Given the description of an element on the screen output the (x, y) to click on. 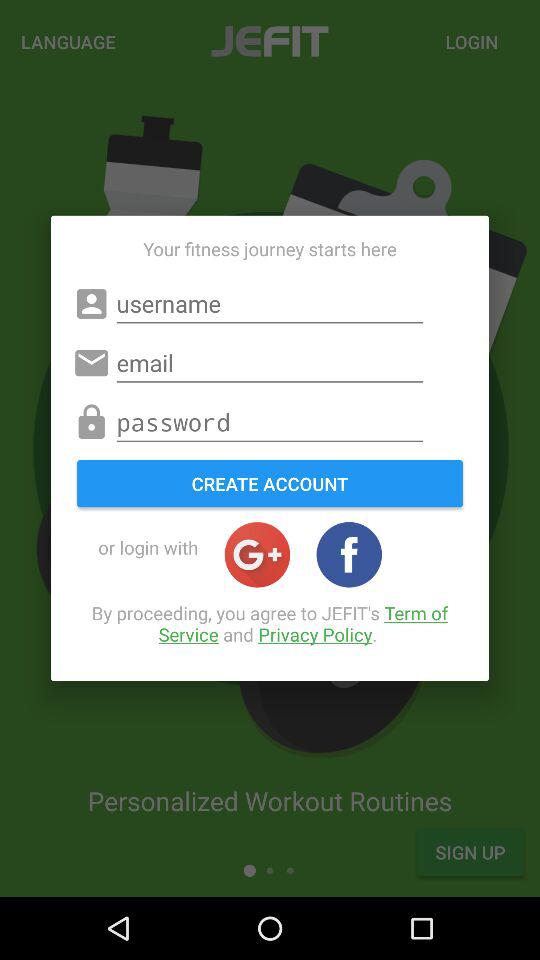
google key (257, 554)
